Given the description of an element on the screen output the (x, y) to click on. 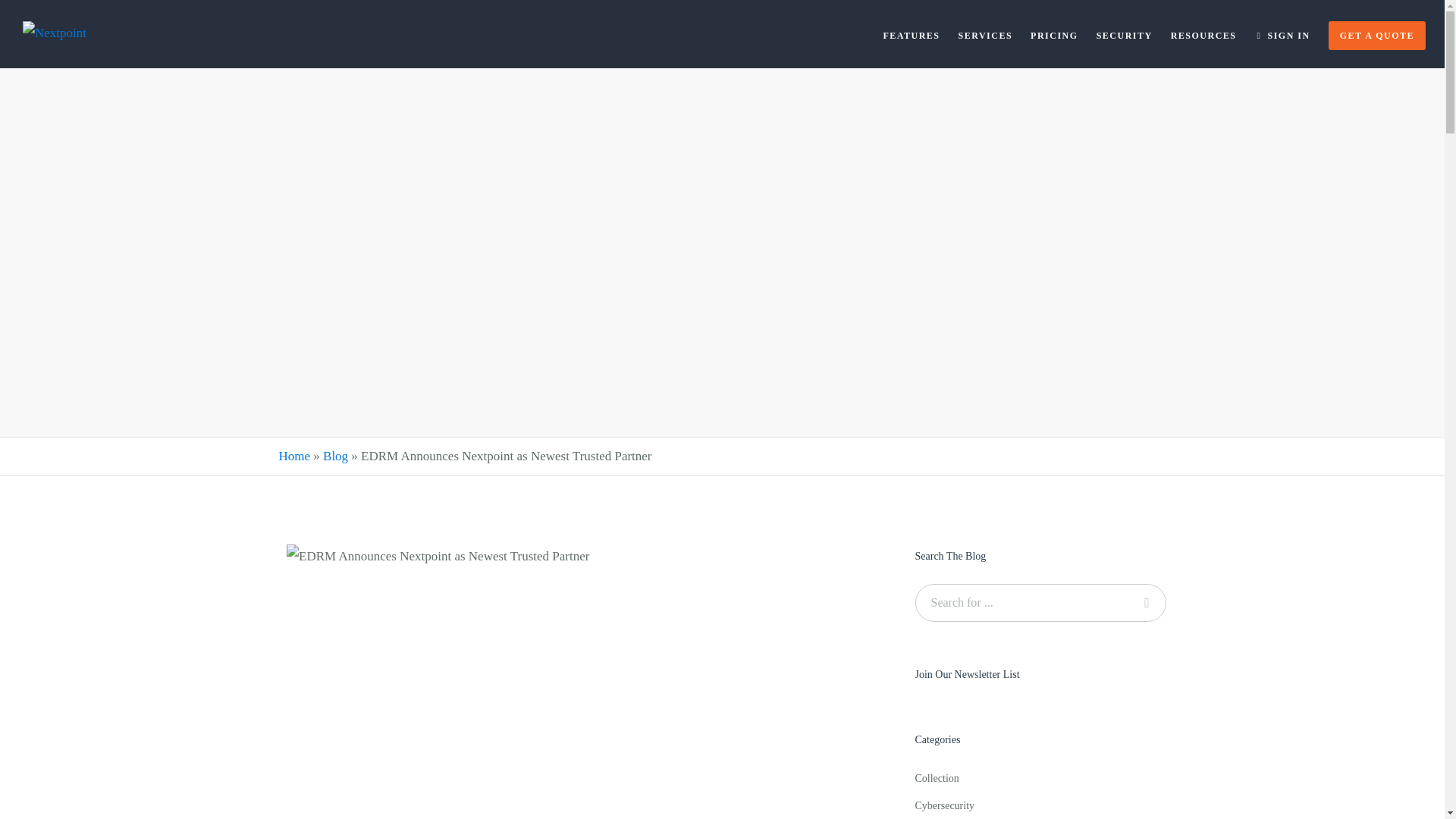
PRICING (1044, 33)
SECURITY (1115, 33)
FEATURES (901, 33)
RESOURCES (1194, 33)
Home (295, 455)
Blog (335, 455)
SIGN IN (1272, 33)
GET A QUOTE (1367, 33)
SERVICES (976, 33)
